Given the description of an element on the screen output the (x, y) to click on. 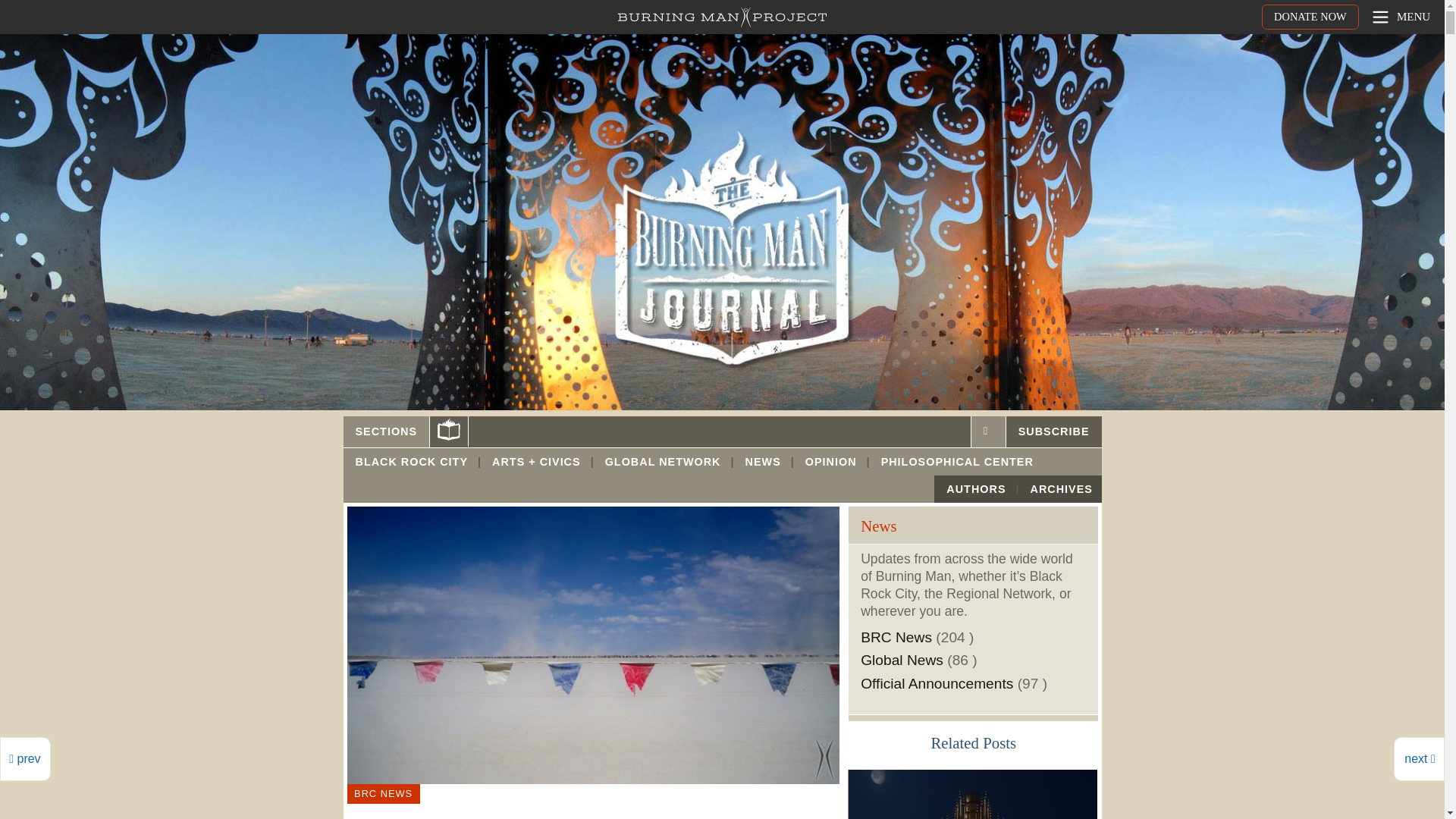
View all posts in BRC News (895, 637)
View all posts in Global News (901, 659)
View all posts in Official Announcements (936, 683)
DONATE NOW (1310, 16)
MENU (1399, 16)
